Given the description of an element on the screen output the (x, y) to click on. 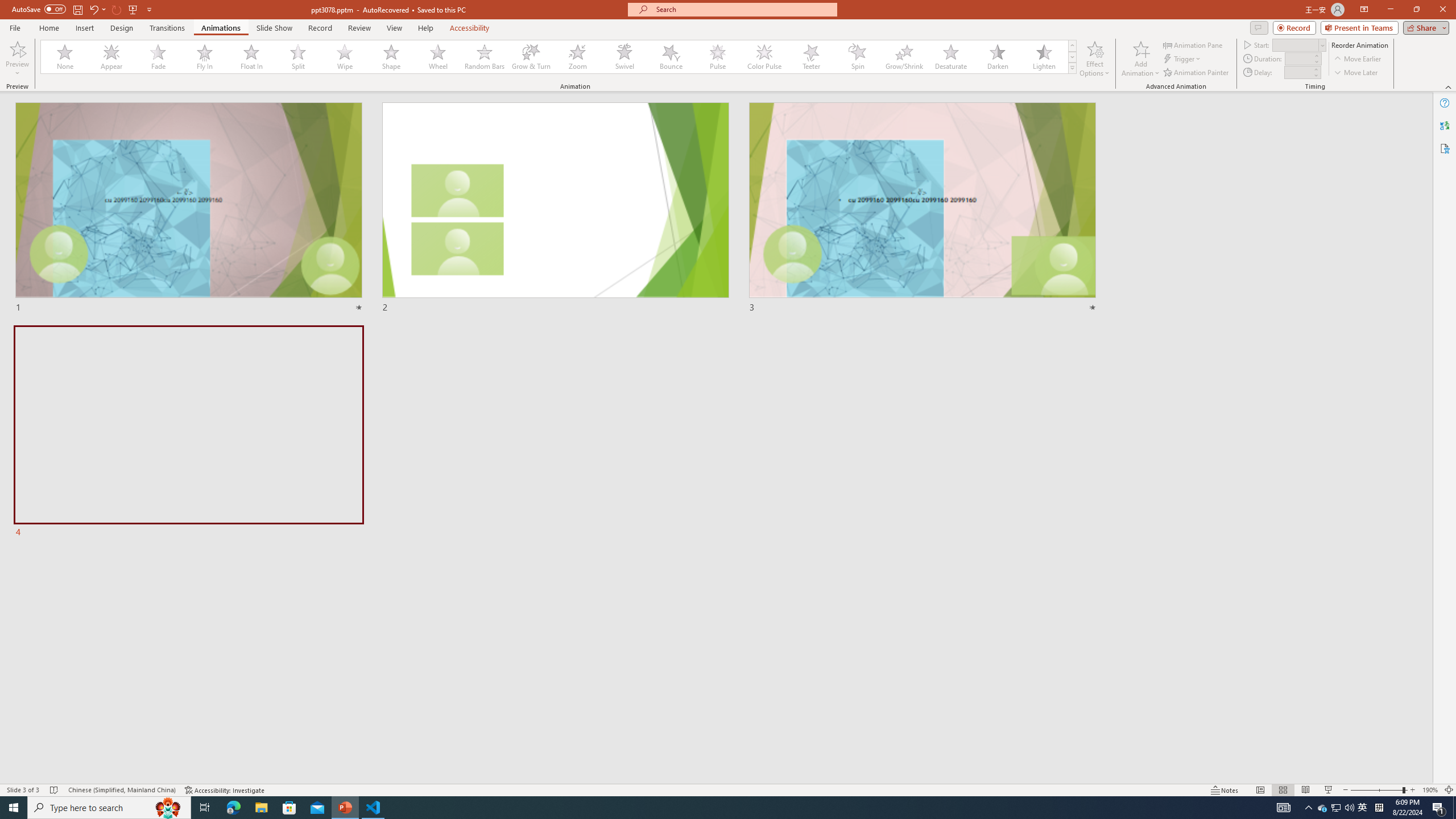
Animation Styles (1071, 67)
Lighten (1043, 56)
Darken (997, 56)
